Given the description of an element on the screen output the (x, y) to click on. 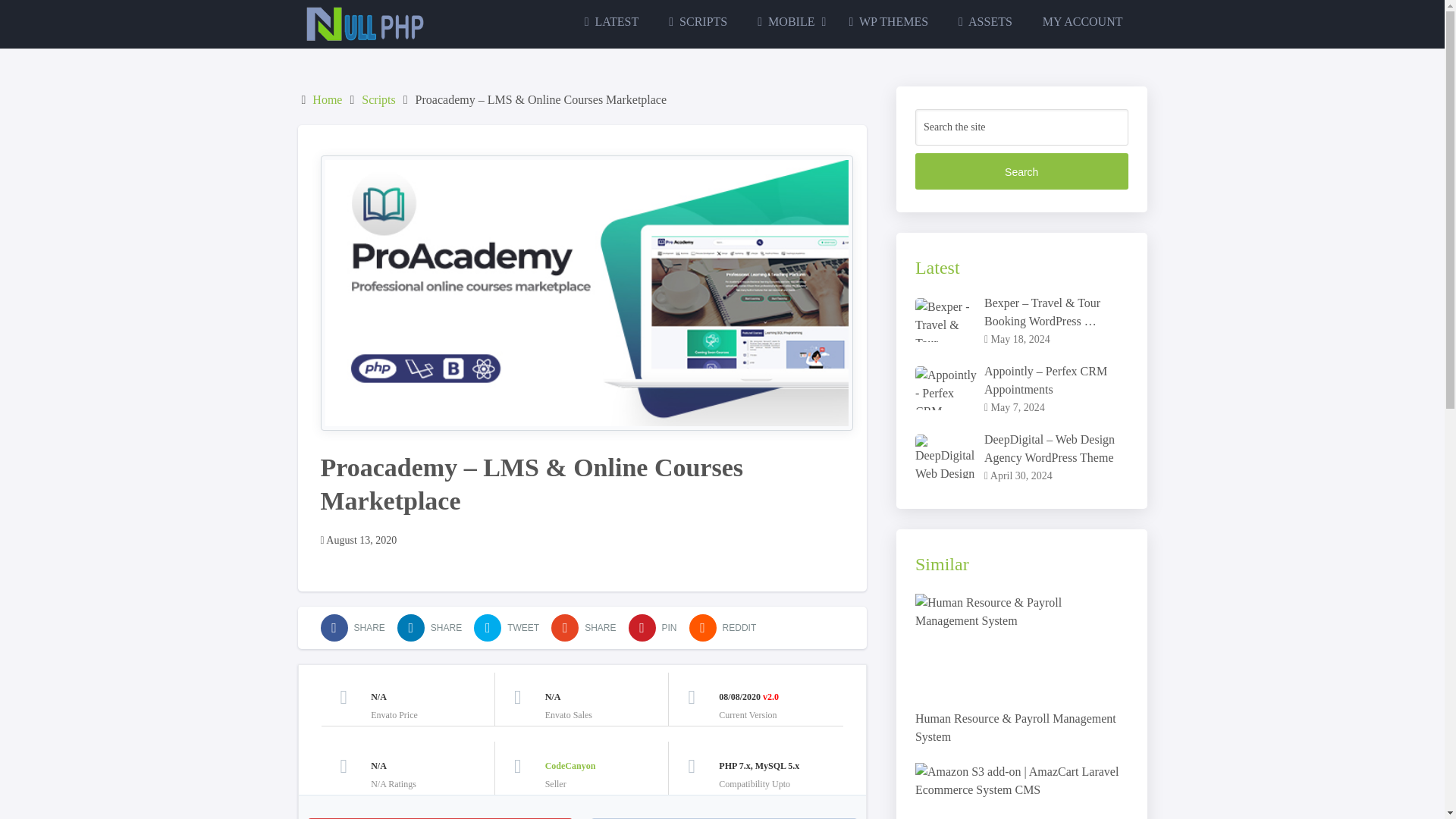
SHARE (429, 627)
TWEET (506, 627)
Scripts (377, 99)
CodeCanyon (569, 765)
REDDIT (722, 627)
Home (327, 99)
MY ACCOUNT (1082, 21)
LATEST (611, 21)
SHARE (583, 627)
WP THEMES (887, 21)
MOBILE (787, 21)
